Given the description of an element on the screen output the (x, y) to click on. 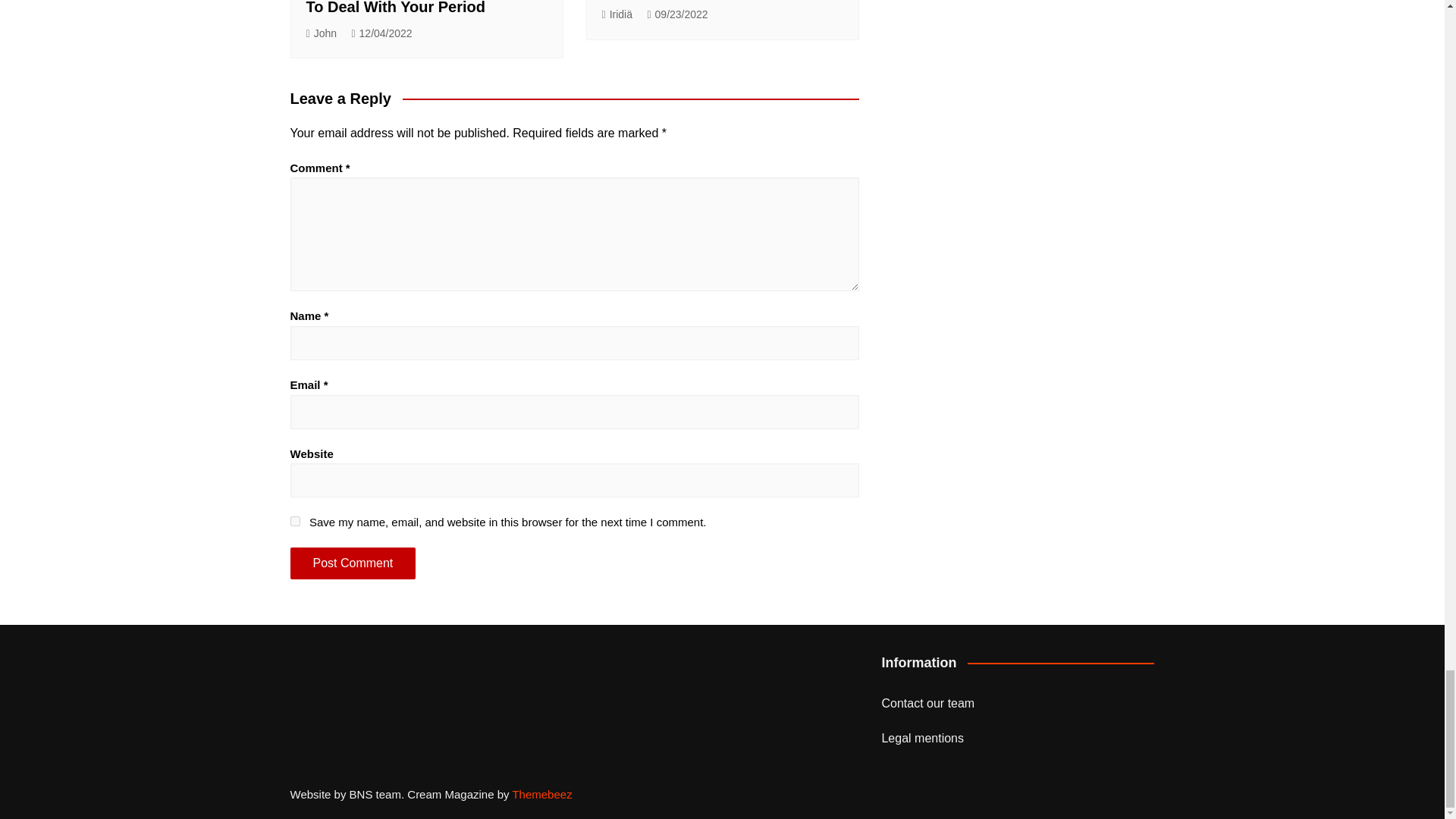
Post Comment (351, 563)
yes (294, 521)
